Given the description of an element on the screen output the (x, y) to click on. 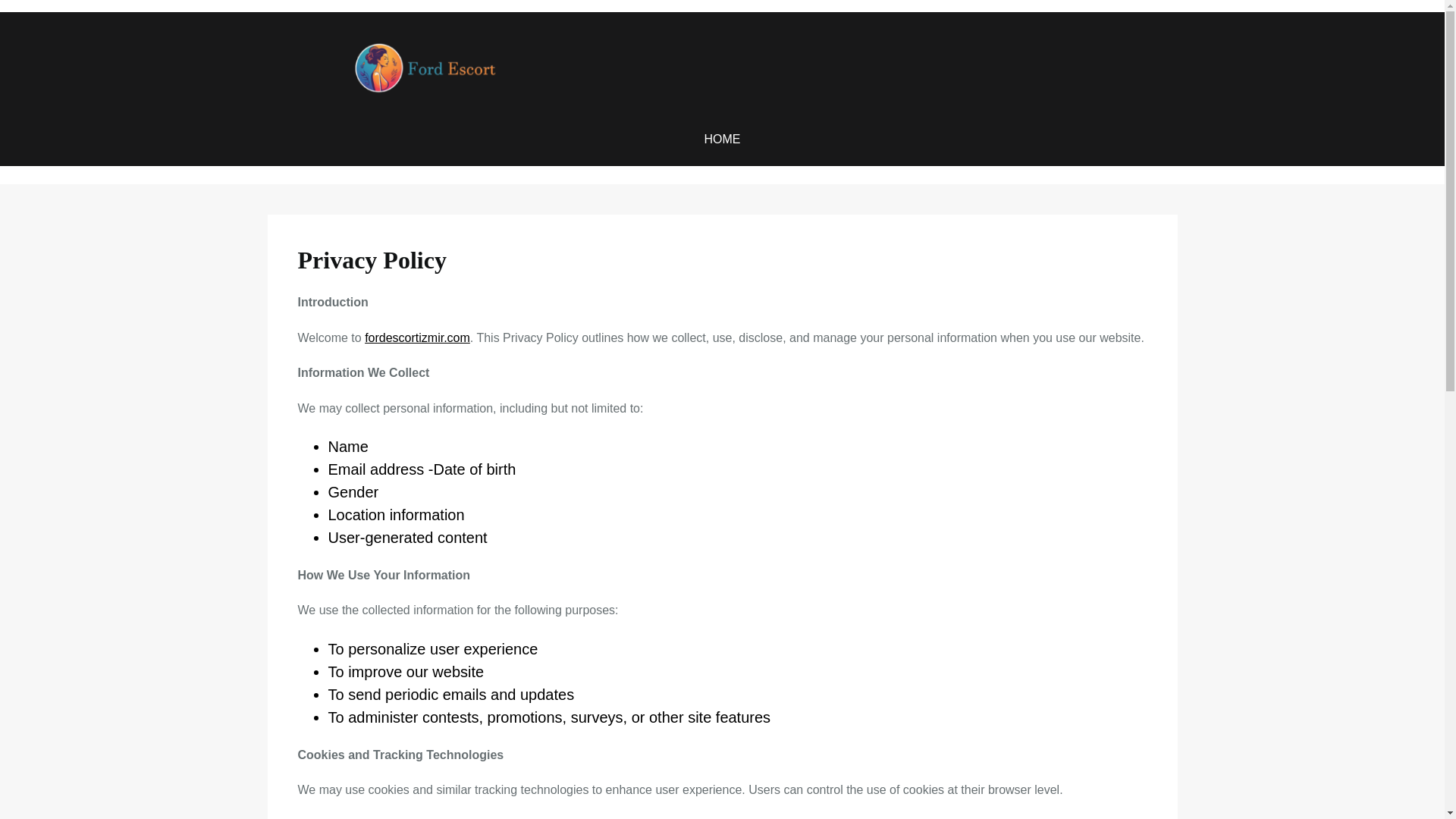
HOME (721, 138)
fordescortizmir.com (417, 337)
